Given the description of an element on the screen output the (x, y) to click on. 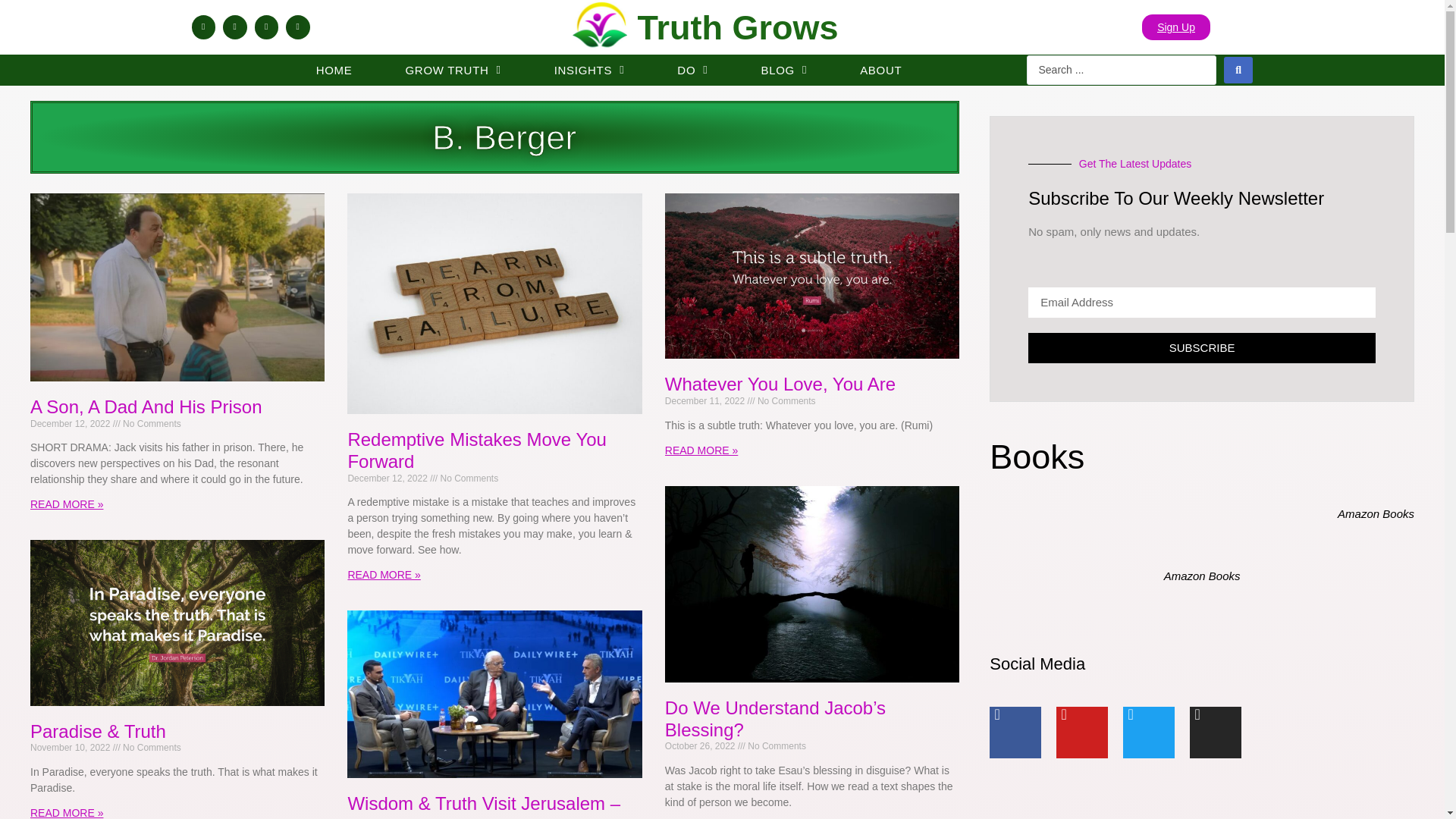
GROW TRUTH (451, 69)
ABOUT (880, 69)
Truth Grows (737, 27)
HOME (334, 69)
Sign Up (1175, 27)
BLOG (783, 69)
INSIGHTS (589, 69)
DO (691, 69)
